Given the description of an element on the screen output the (x, y) to click on. 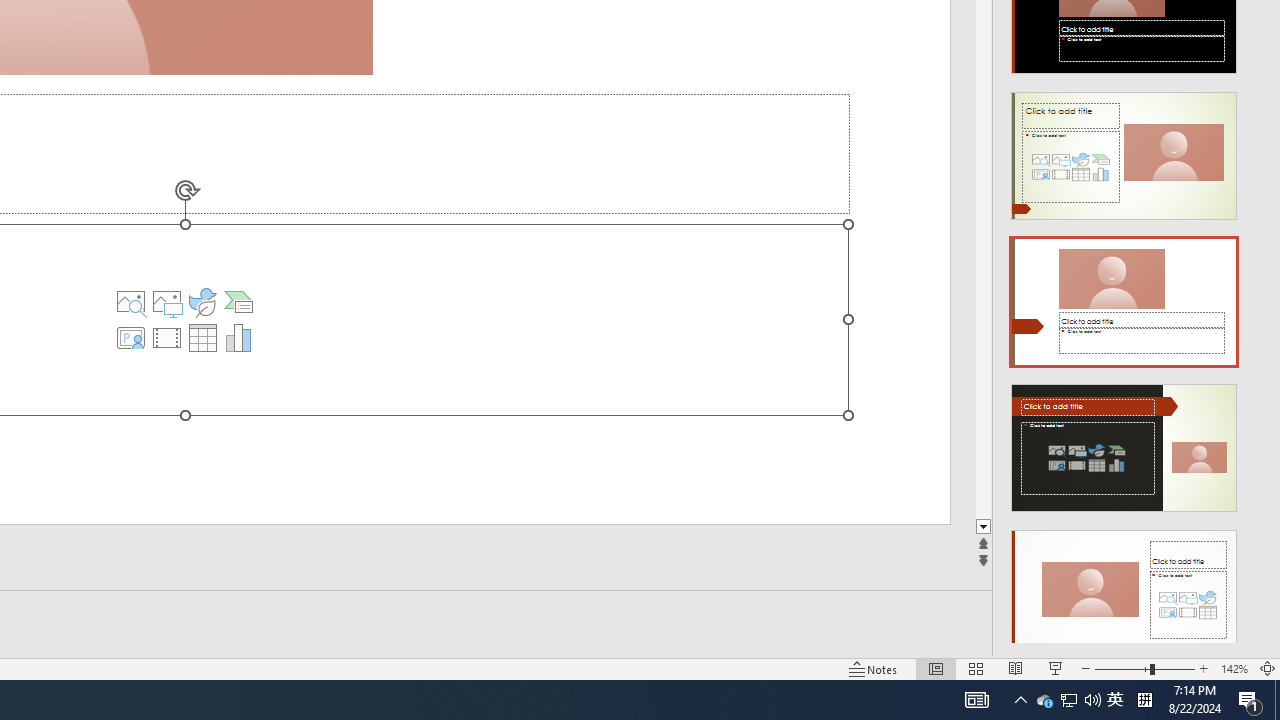
Zoom 142% (1234, 668)
